Given the description of an element on the screen output the (x, y) to click on. 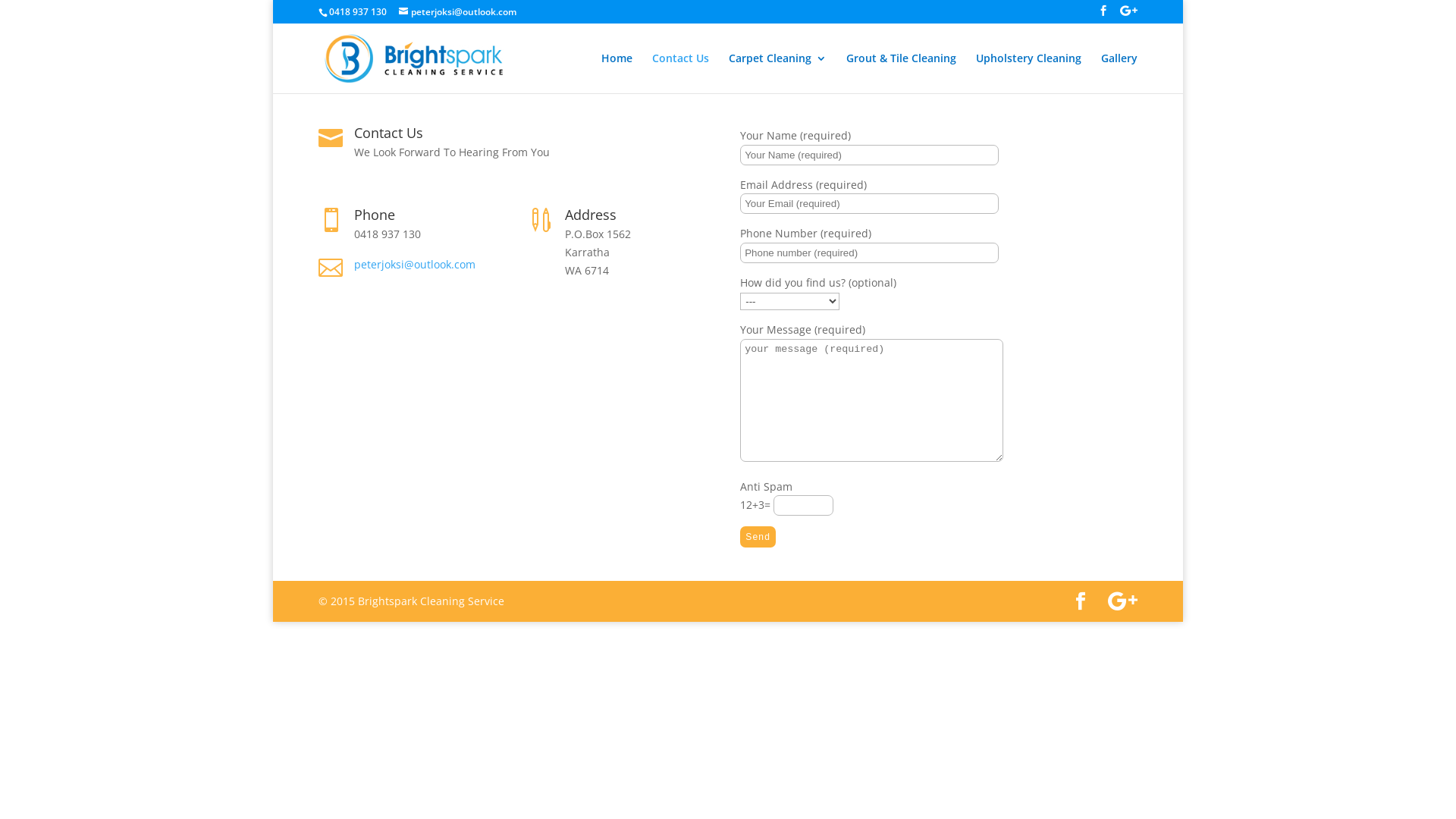
Send Element type: text (757, 536)
Contact Us Element type: text (680, 73)
Grout & Tile Cleaning Element type: text (901, 73)
Home Element type: text (616, 73)
Gallery Element type: text (1119, 73)
peterjoksi@outlook.com Element type: text (457, 11)
peterjoksi@outlook.com Element type: text (414, 264)
Carpet Cleaning Element type: text (777, 73)
Upholstery Cleaning Element type: text (1028, 73)
